Given the description of an element on the screen output the (x, y) to click on. 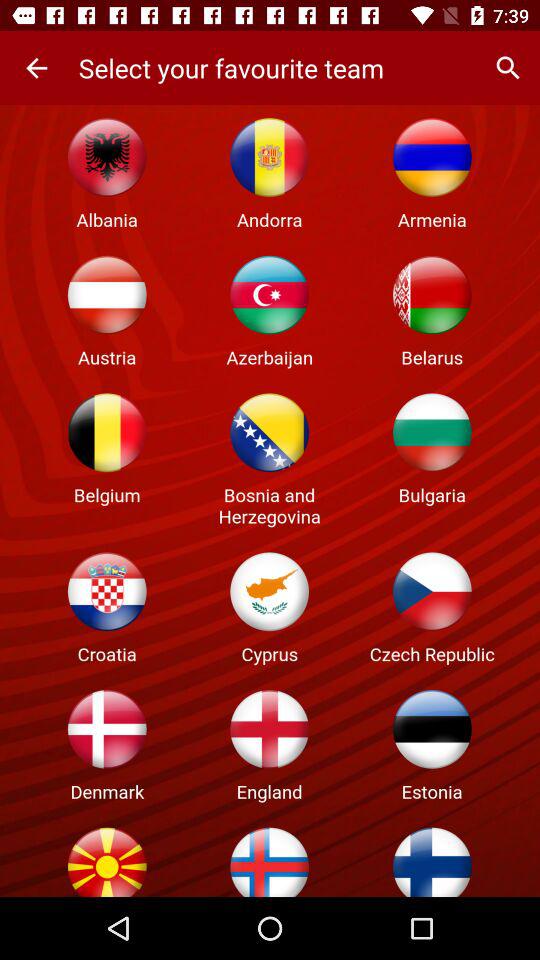
turn off item next to the select your favourite item (36, 68)
